Given the description of an element on the screen output the (x, y) to click on. 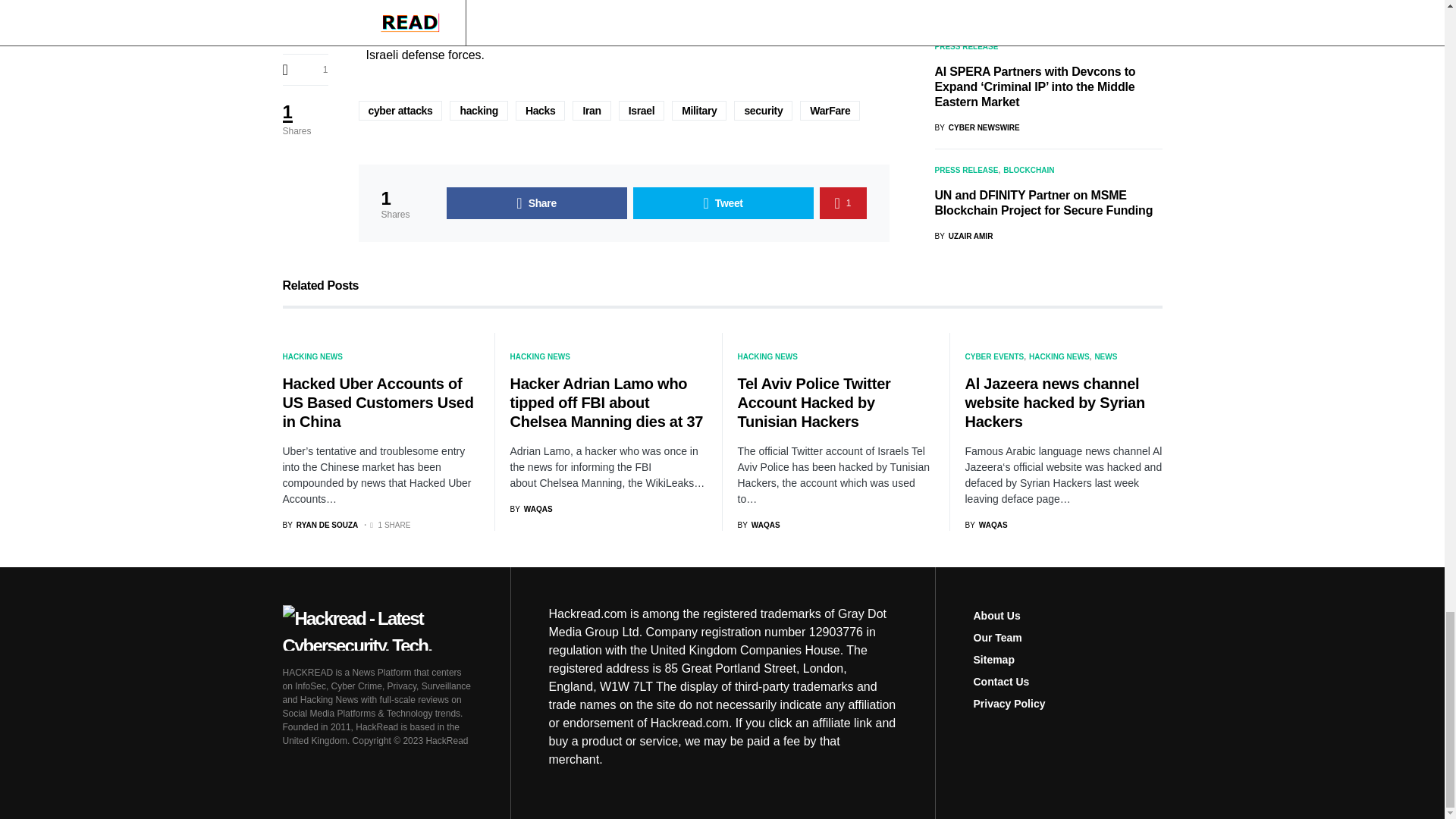
View all posts by Waqas (985, 524)
View all posts by Waqas (757, 524)
View all posts by Waqas (530, 509)
View all posts by Ryan De Souza (320, 524)
